Given the description of an element on the screen output the (x, y) to click on. 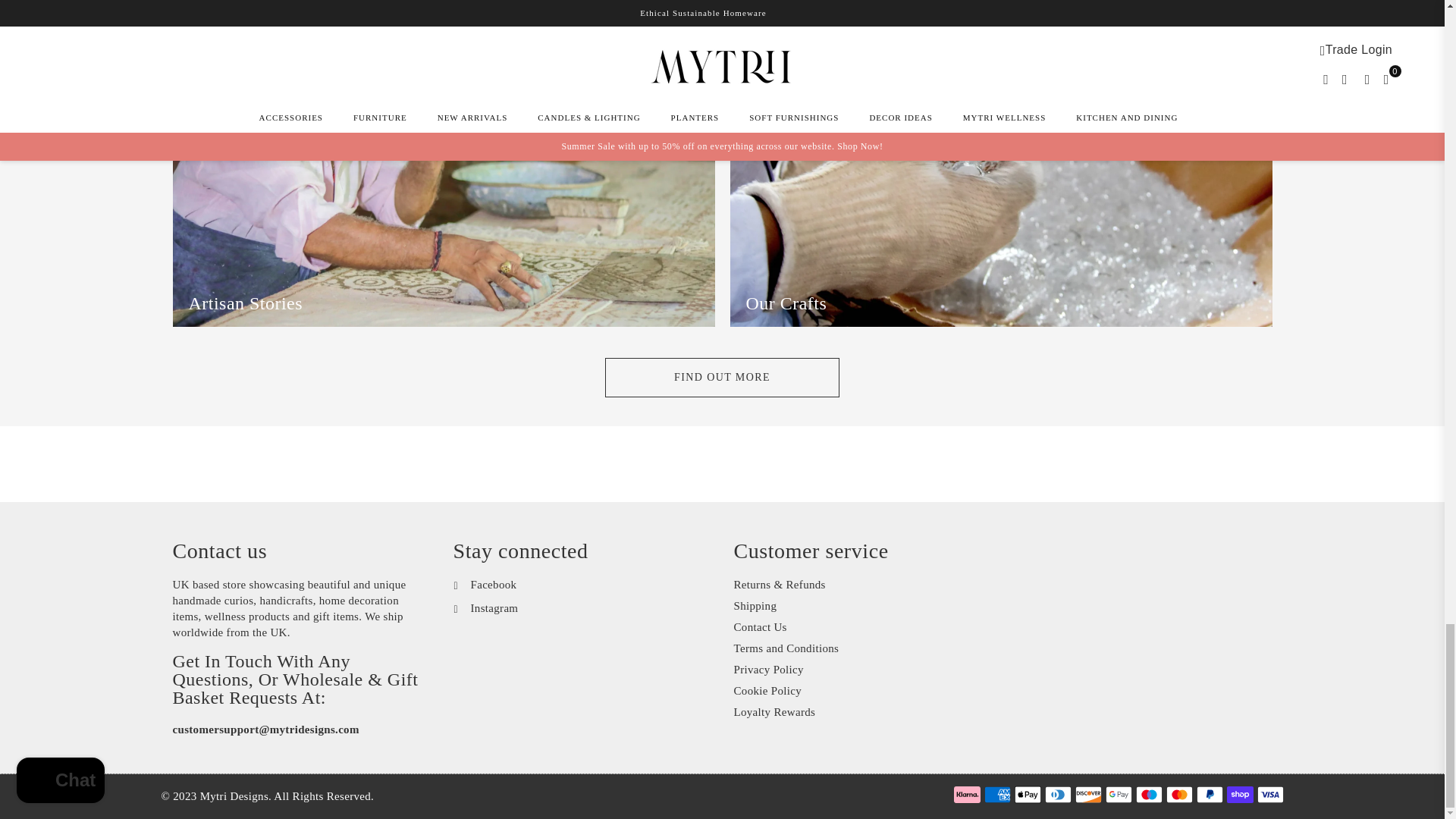
Maestro (1148, 794)
PayPal (1209, 794)
American Express (997, 794)
Mytri Designs on Instagram (486, 608)
Discover (1088, 794)
Diners Club (1058, 794)
Google Pay (1118, 794)
Apple Pay (1027, 794)
Mastercard (1179, 794)
Mytri Designs on Facebook (485, 584)
